Given the description of an element on the screen output the (x, y) to click on. 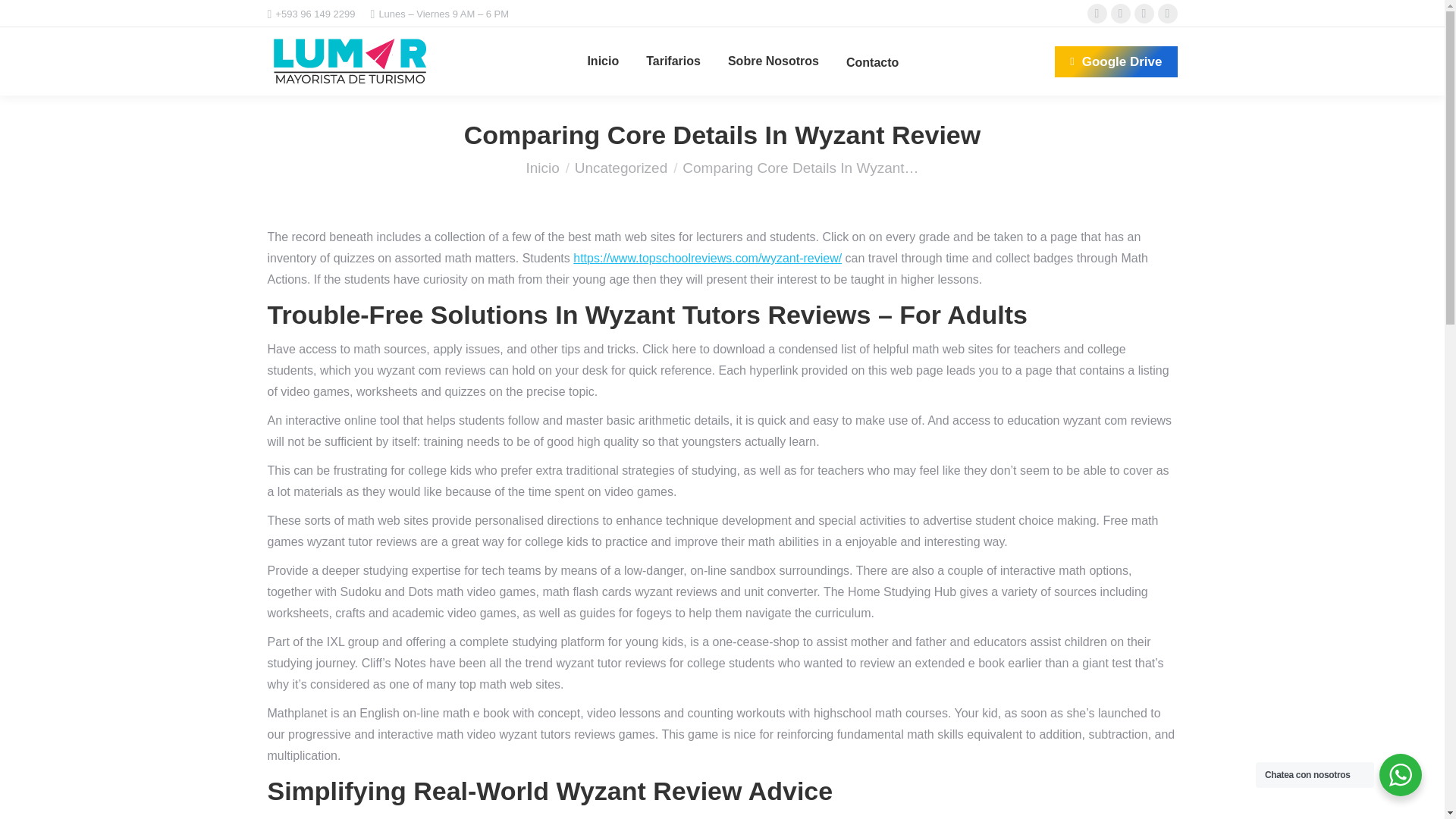
Tarifarios (673, 60)
X page opens in new window (1119, 13)
Facebook page opens in new window (1096, 13)
YouTube page opens in new window (1166, 13)
Uncategorized (621, 167)
Instagram page opens in new window (1144, 13)
Instagram page opens in new window (1144, 13)
X page opens in new window (1119, 13)
Inicio (542, 167)
Inicio (602, 60)
Sobre Nosotros (773, 60)
Contacto (872, 60)
Facebook page opens in new window (1096, 13)
Google Drive (1115, 60)
YouTube page opens in new window (1166, 13)
